Given the description of an element on the screen output the (x, y) to click on. 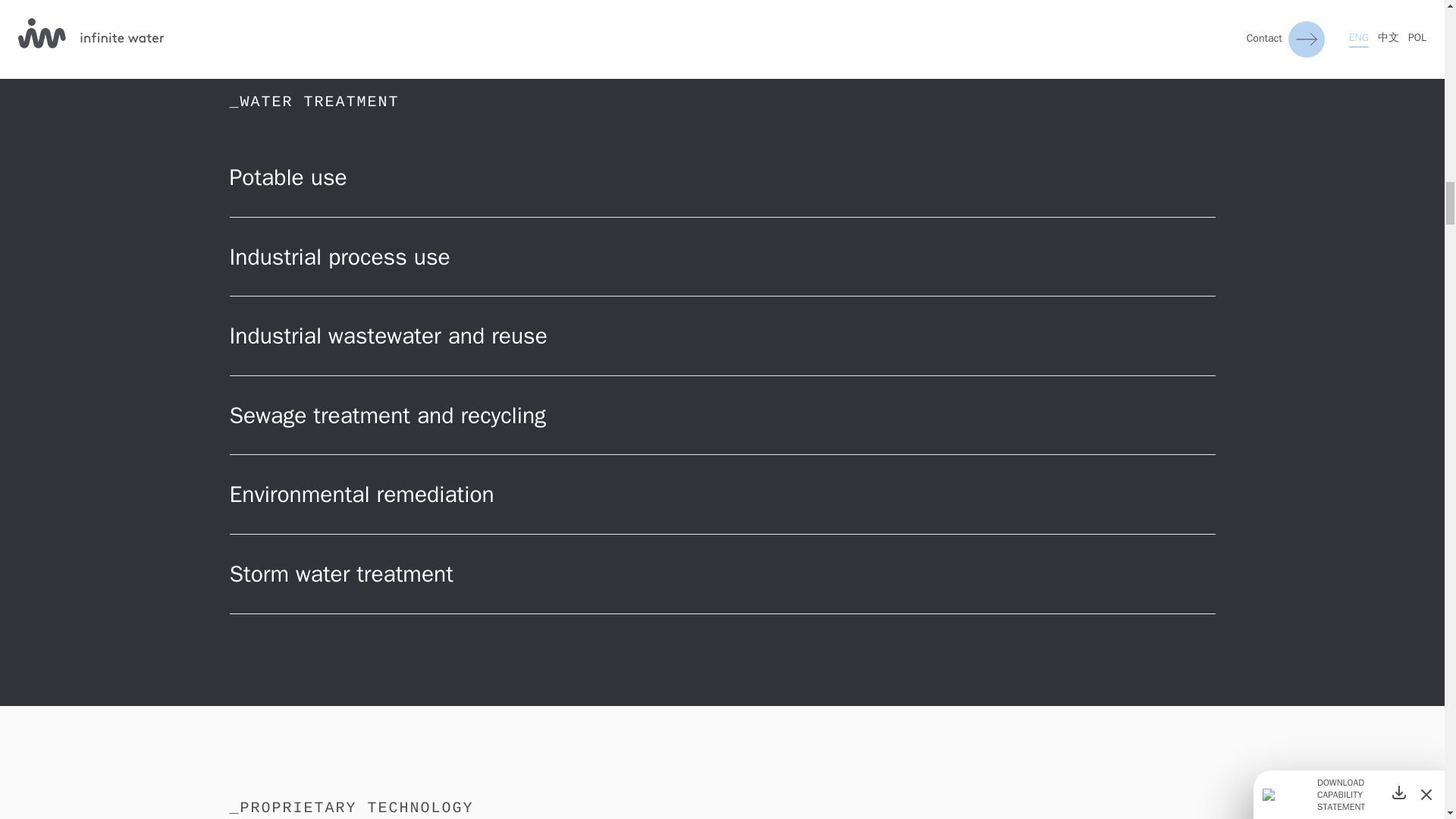
Sewage treatment and recycling (721, 415)
Storm water treatment (721, 574)
Industrial process use (721, 257)
Potable use (721, 177)
Environmental remediation (721, 494)
Industrial wastewater and reuse (721, 335)
